Given the description of an element on the screen output the (x, y) to click on. 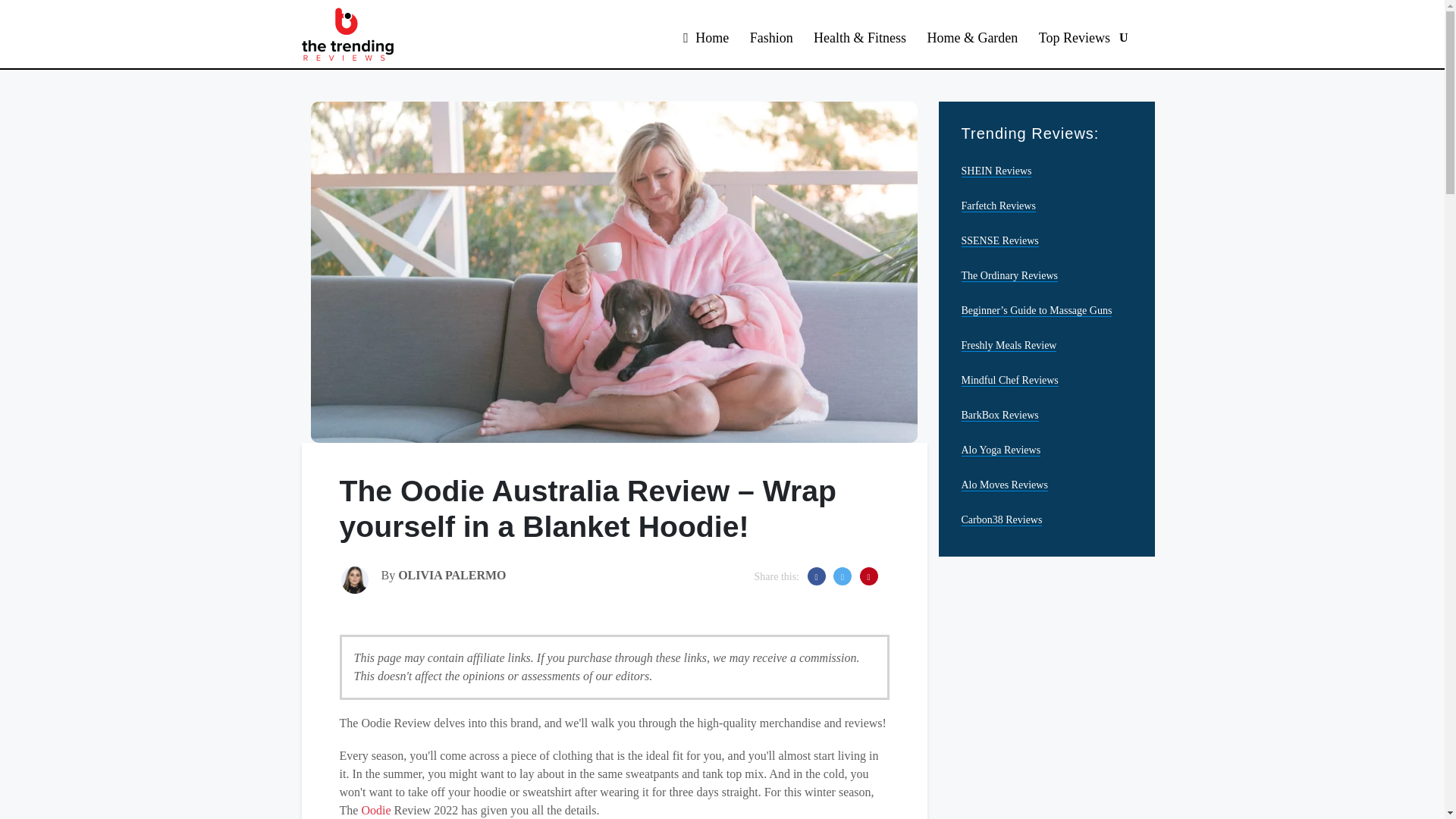
Oodie (375, 809)
Home (705, 37)
Top Reviews (1074, 37)
Fashion (771, 37)
